Given the description of an element on the screen output the (x, y) to click on. 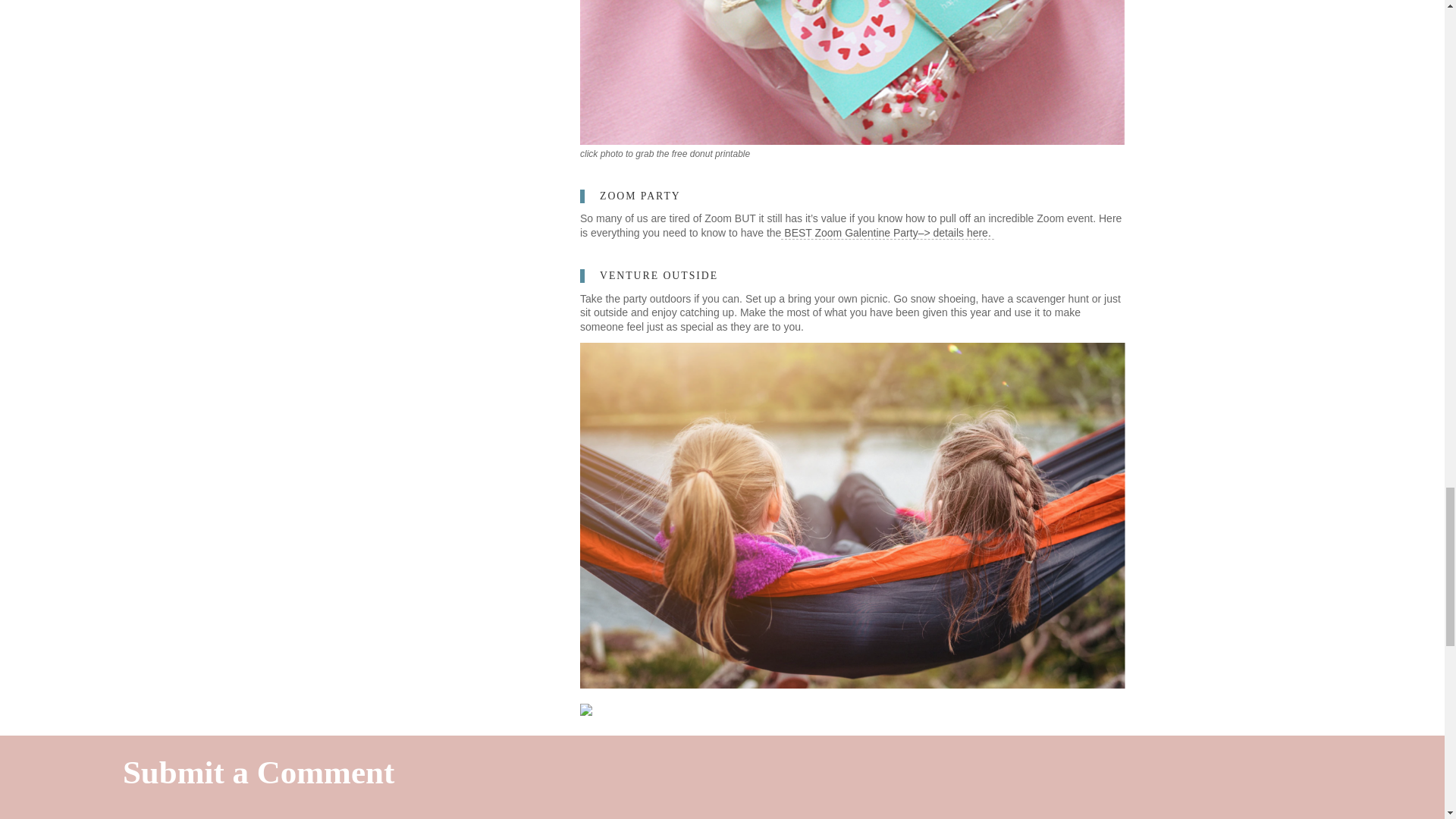
galentine 2 (852, 72)
